Given the description of an element on the screen output the (x, y) to click on. 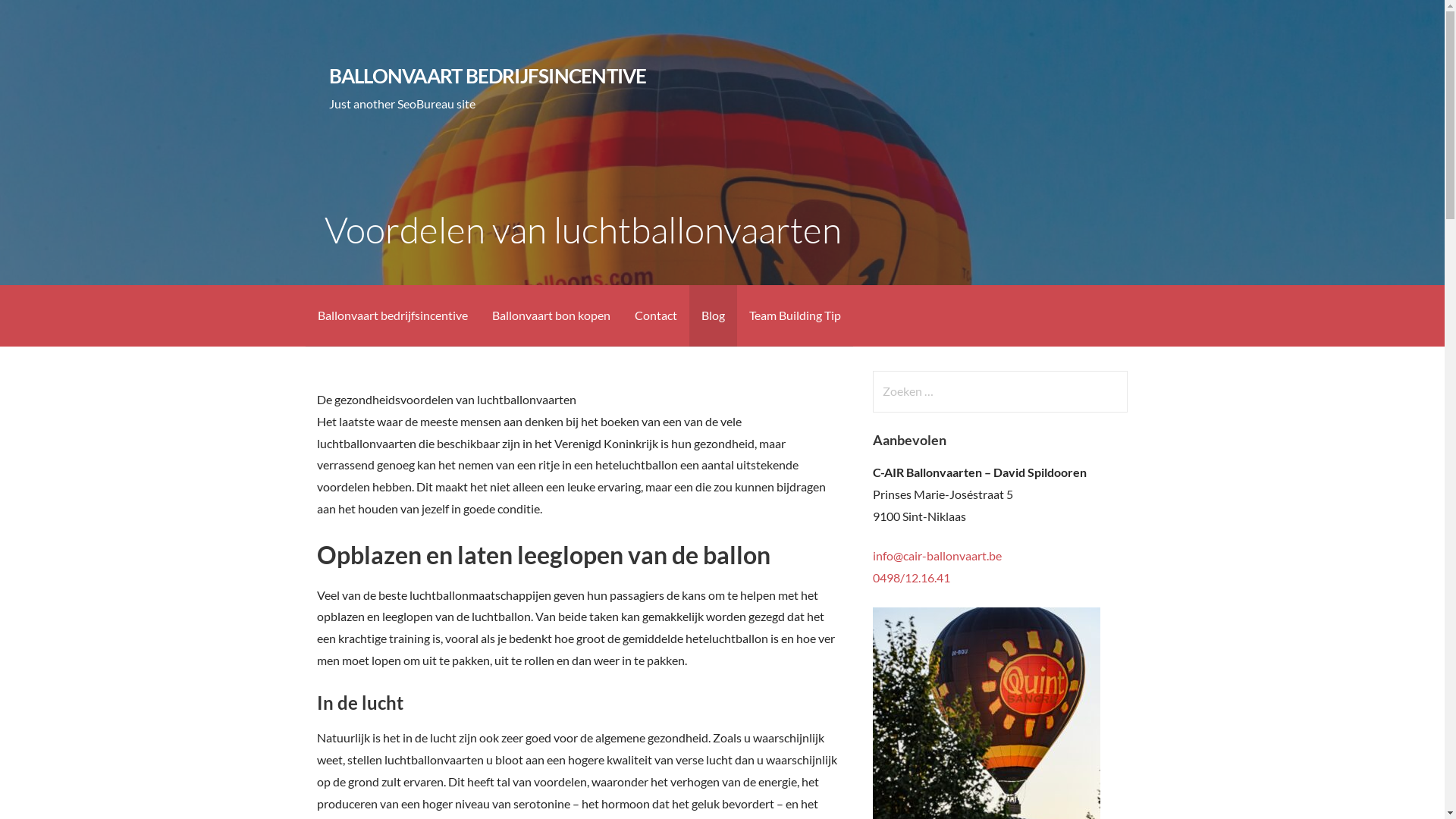
Zoeken Element type: text (42, 18)
Blog Element type: text (712, 315)
Team Building Tip Element type: text (795, 315)
Ballonvaart bedrijfsincentive Element type: text (391, 315)
BALLONVAART BEDRIJFSINCENTIVE Element type: text (487, 75)
Contact Element type: text (654, 315)
Ballonvaart bon kopen Element type: text (550, 315)
info@cair-ballonvaart.be Element type: text (936, 555)
Naar inhoud gaan Element type: text (0, 0)
0498/12.16.41 Element type: text (911, 577)
